Given the description of an element on the screen output the (x, y) to click on. 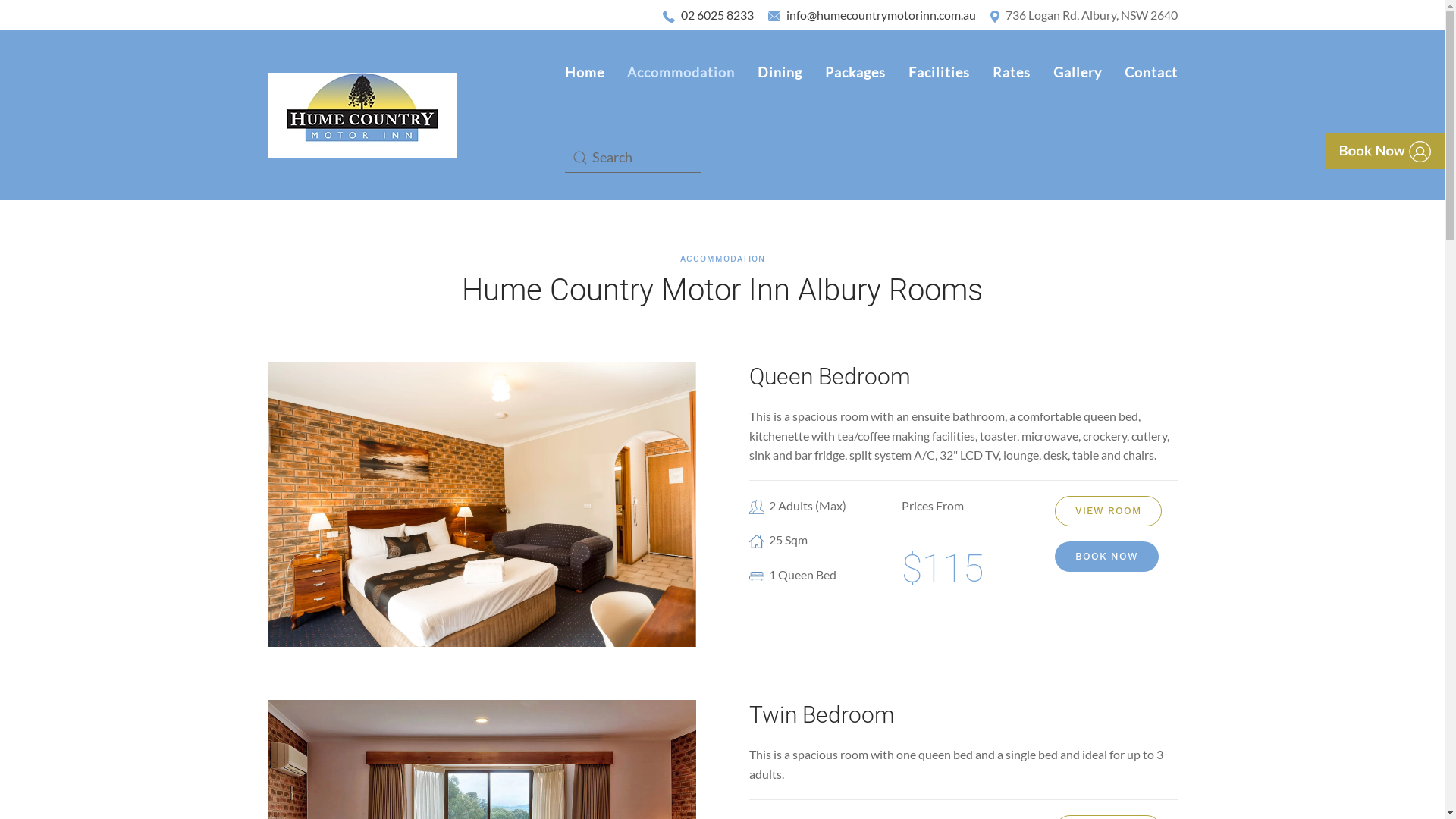
Rates Element type: text (1011, 72)
Dining Element type: text (779, 72)
BOOK NOW Element type: text (1106, 556)
Gallery Element type: text (1077, 72)
Facilities Element type: text (938, 72)
02 6025 8233 Element type: text (716, 14)
VIEW ROOM Element type: text (1107, 510)
info@humecountrymotorinn.com.au Element type: text (880, 14)
Packages Element type: text (854, 72)
Contact Element type: text (1151, 72)
Home Element type: text (584, 72)
Accommodation Element type: text (680, 72)
